Given the description of an element on the screen output the (x, y) to click on. 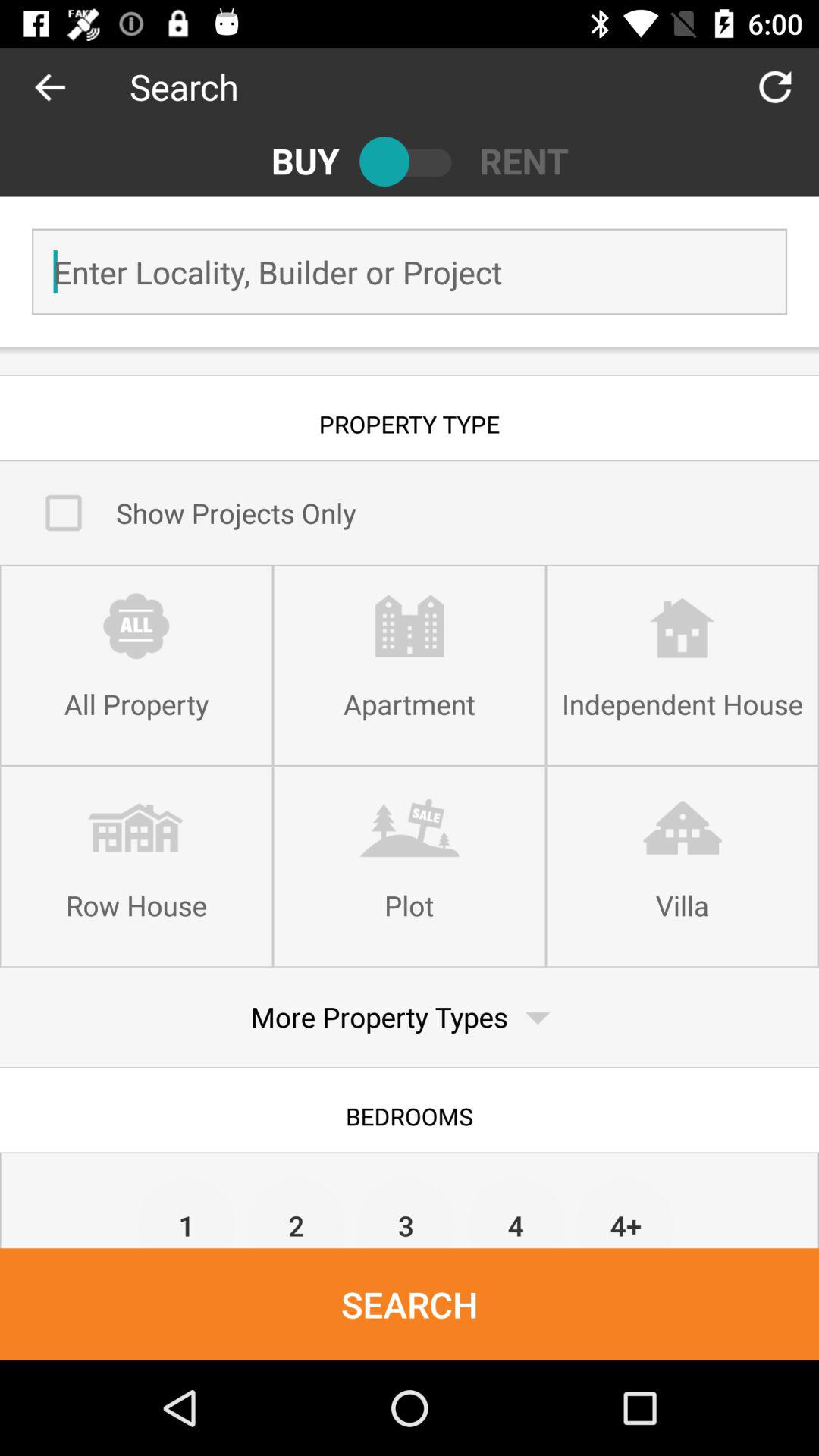
slide on (409, 161)
